Given the description of an element on the screen output the (x, y) to click on. 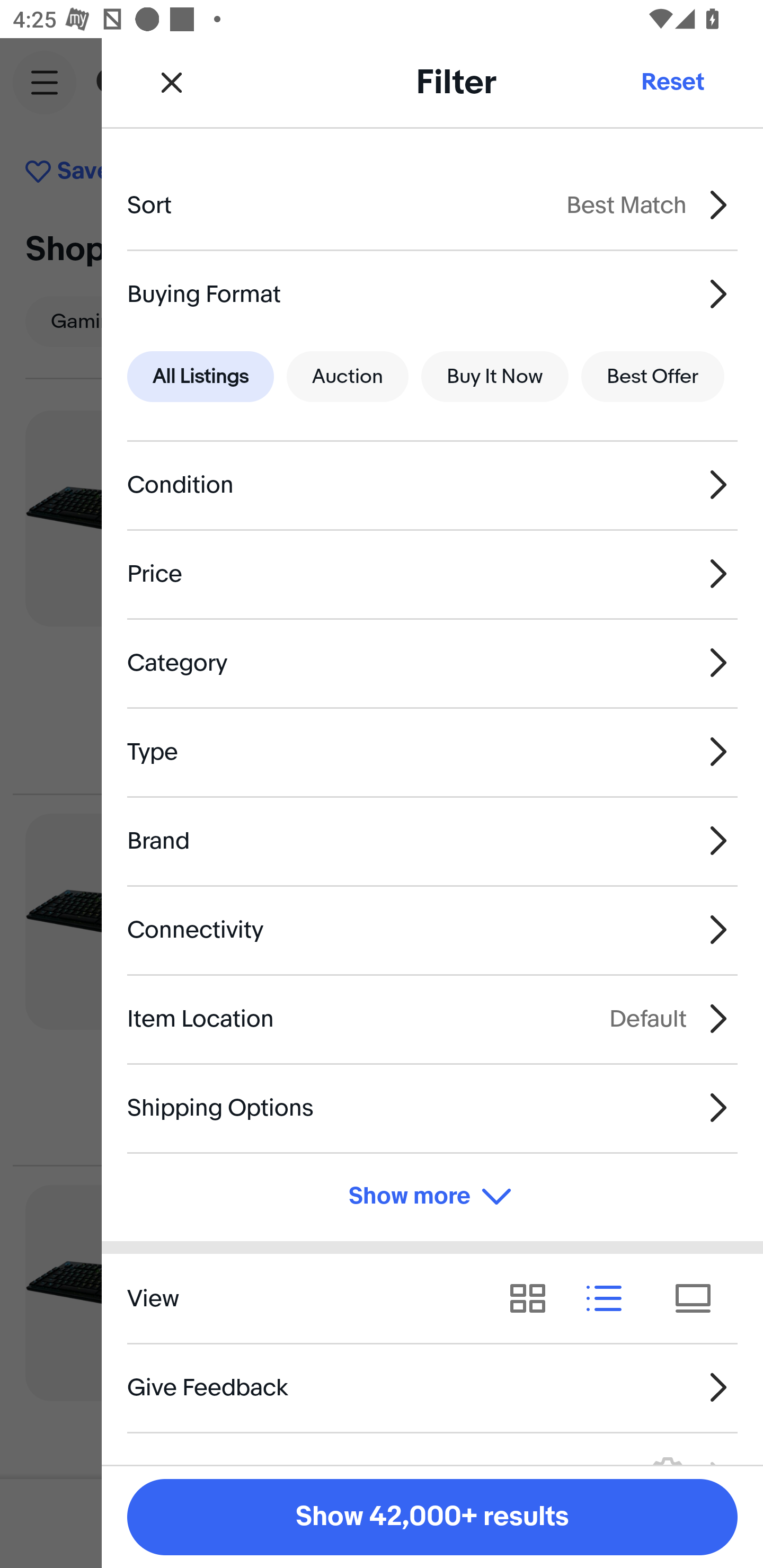
Close Filter (171, 81)
Reset (672, 81)
Buying Format (432, 293)
All Listings (200, 376)
Auction (347, 376)
Buy It Now (494, 376)
Best Offer (652, 376)
Condition (432, 484)
Price (432, 573)
Category (432, 662)
Type (432, 751)
Brand (432, 840)
Connectivity (432, 929)
Item Location Default (432, 1018)
Shipping Options (432, 1107)
Show more (432, 1196)
View results as grid (533, 1297)
View results as list (610, 1297)
View results as tiles (699, 1297)
Show 42,000+ results (432, 1516)
